Given the description of an element on the screen output the (x, y) to click on. 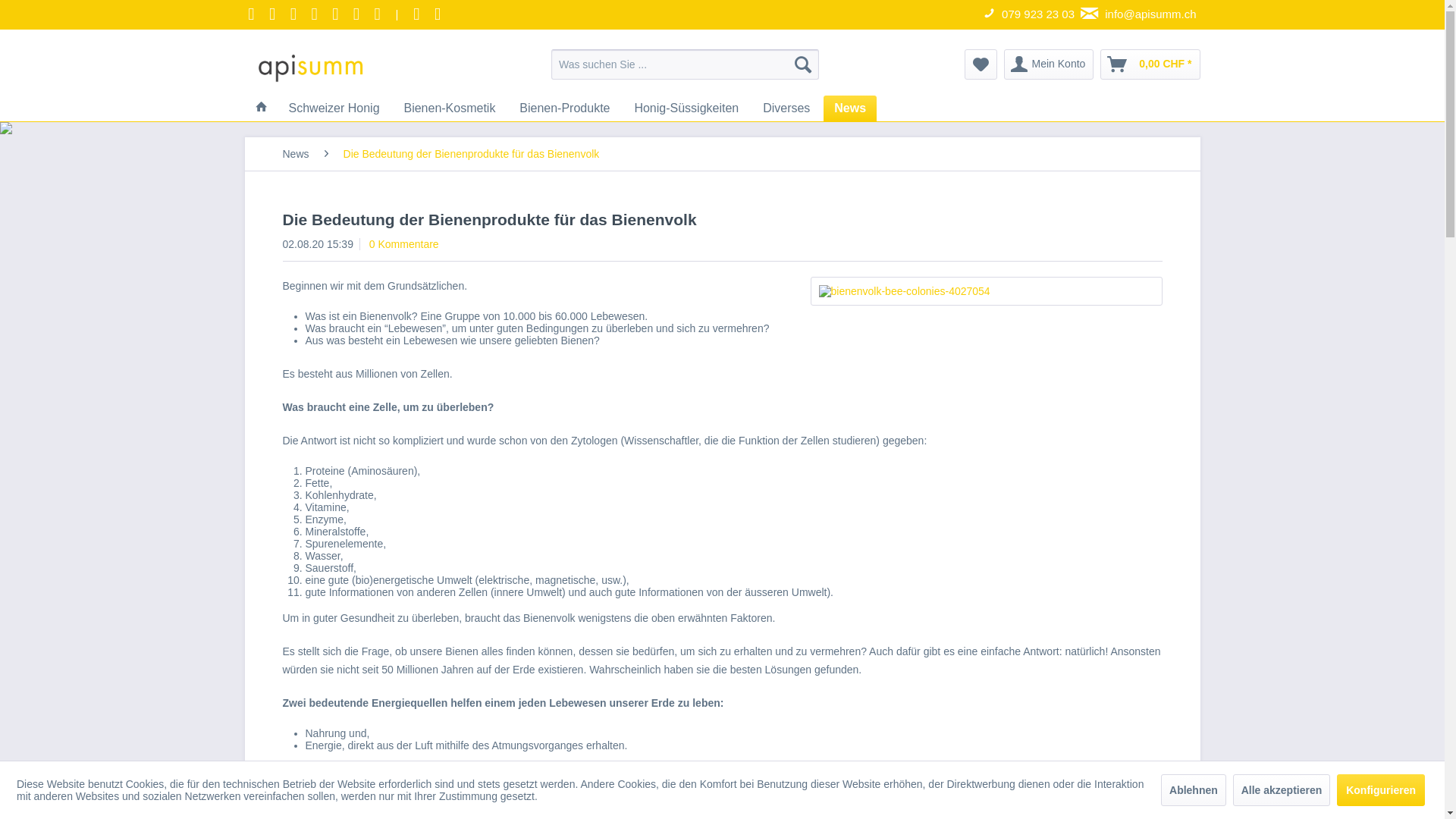
News Element type: text (849, 108)
Bienen-Produkte Element type: text (564, 108)
Bienen-Kosmetik Element type: text (448, 108)
Merkzettel Element type: hover (980, 63)
0 Kommentare Element type: text (404, 244)
bienenvolk-bee-colonies-4027054 Element type: hover (985, 290)
News Element type: text (295, 152)
Alle akzeptieren Element type: text (1281, 790)
0,00 CHF * Element type: text (1149, 63)
info@apisumm.ch Element type: text (1139, 14)
Ablehnen Element type: text (1193, 790)
Diverses Element type: text (786, 108)
Konfigurieren Element type: text (1380, 790)
079 923 23 03 Element type: text (1030, 14)
Mein Konto Element type: text (1049, 63)
Home Element type: hover (260, 107)
Schweizer Honig Element type: text (333, 108)
